Given the description of an element on the screen output the (x, y) to click on. 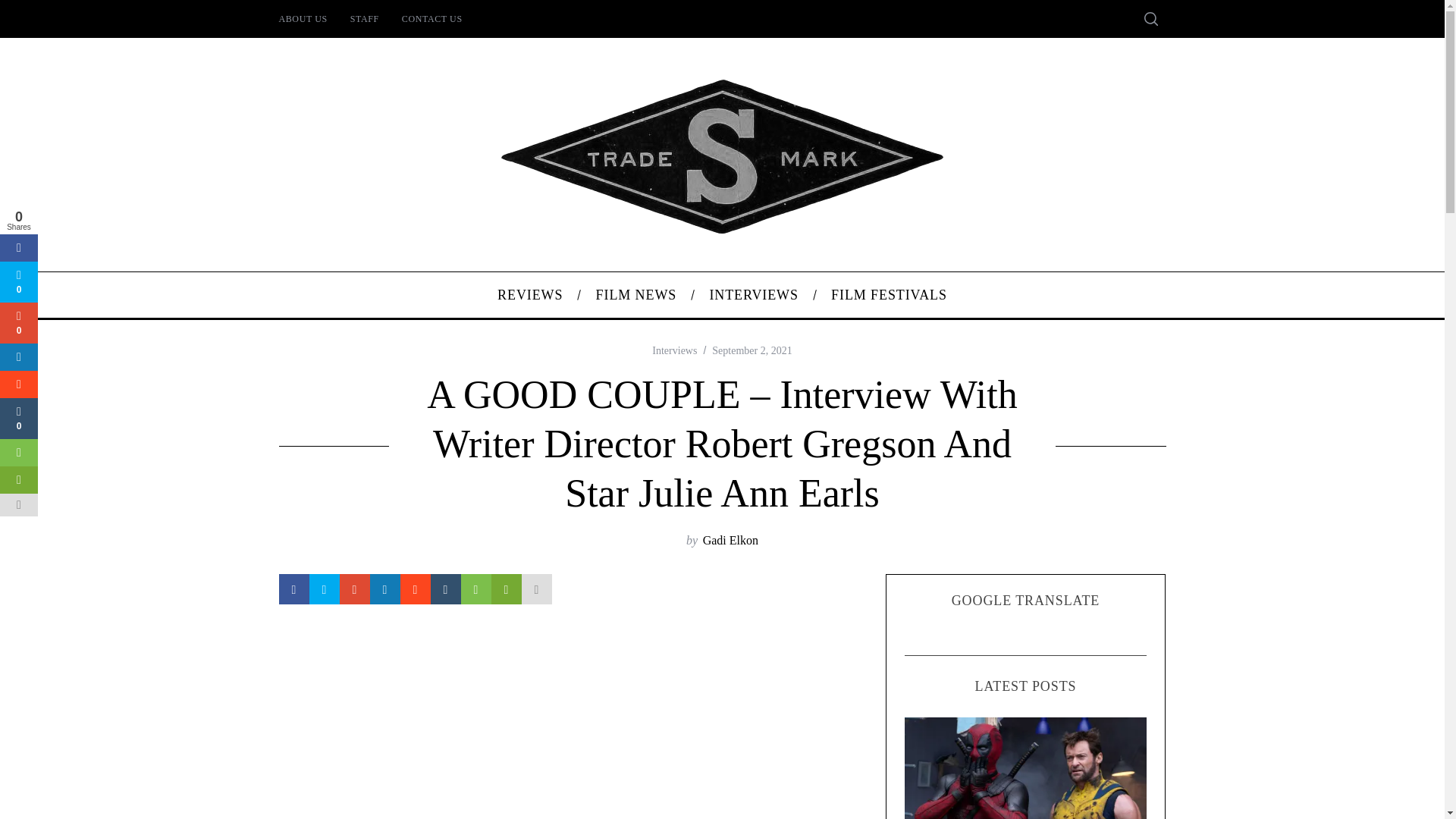
REVIEWS (529, 294)
FILM FESTIVALS (889, 294)
FILM NEWS (636, 294)
Gadi Elkon (730, 540)
Interviews (674, 350)
CONTACT US (432, 18)
ABOUT US (301, 18)
STAFF (364, 18)
INTERVIEWS (754, 294)
